Given the description of an element on the screen output the (x, y) to click on. 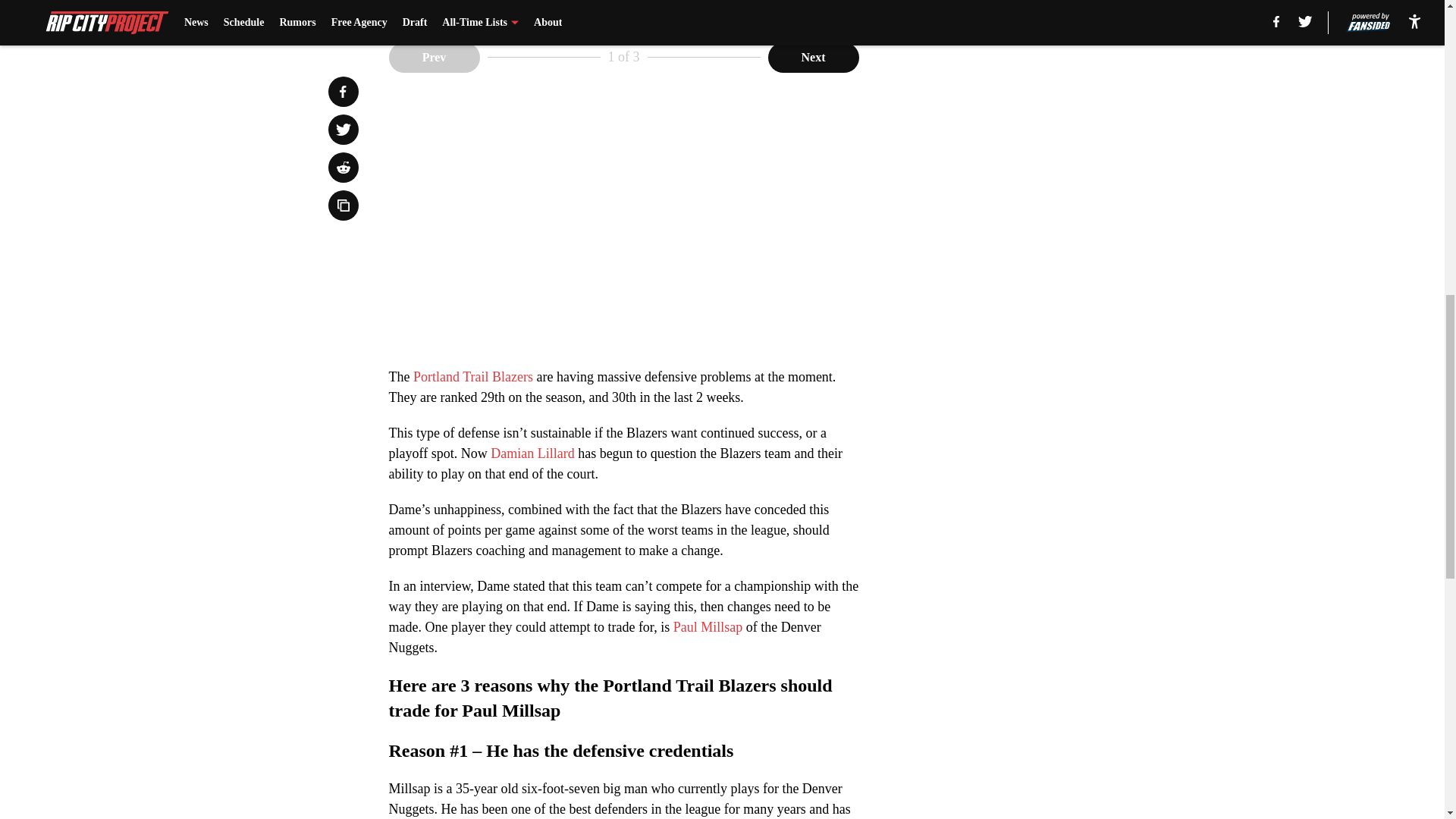
Damian Lillard (531, 453)
Next (813, 57)
Paul Millsap (707, 626)
Prev (433, 57)
Portland Trail Blazers (472, 376)
